Given the description of an element on the screen output the (x, y) to click on. 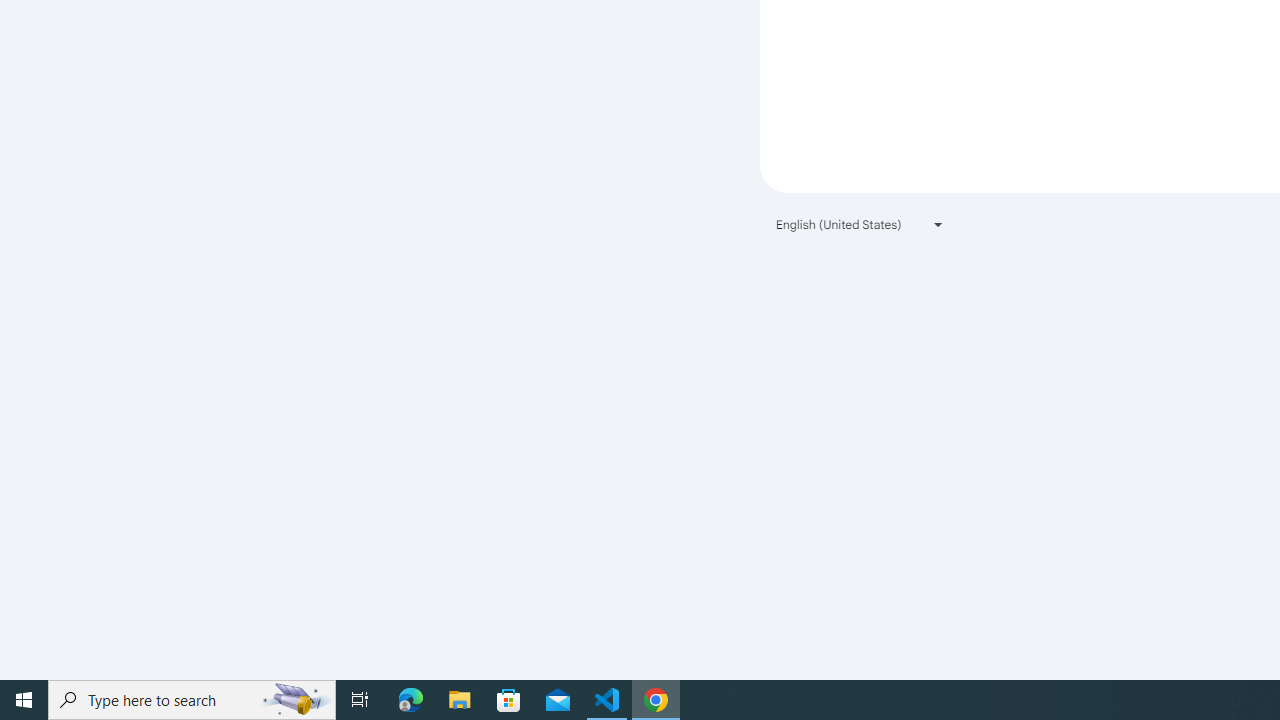
English (United States) (860, 224)
